Given the description of an element on the screen output the (x, y) to click on. 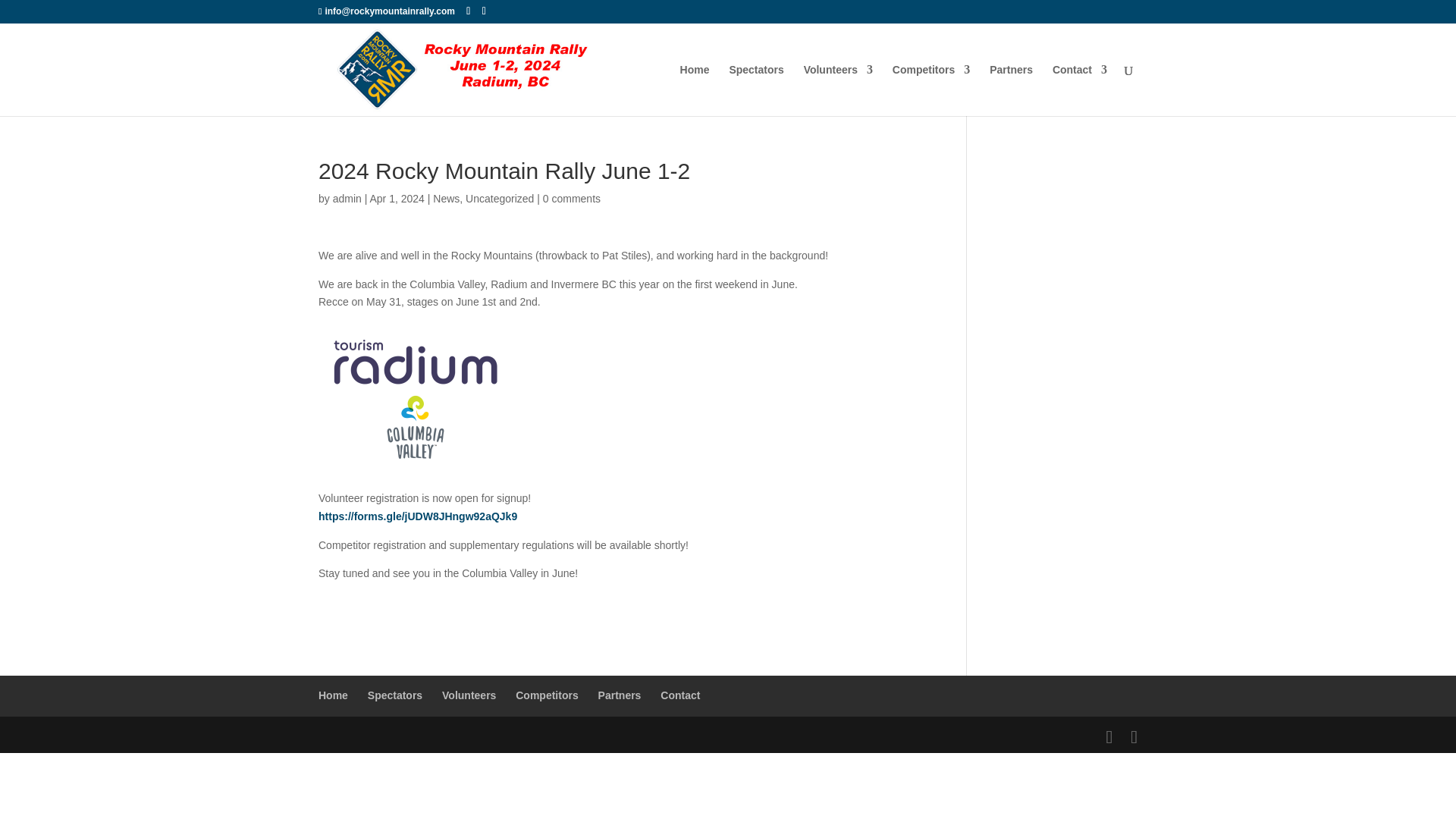
News (446, 198)
Volunteers (837, 90)
admin (347, 198)
Spectators (756, 90)
0 comments (571, 198)
Uncategorized (499, 198)
Posts by admin (347, 198)
Competitors (930, 90)
Contact (1079, 90)
